Given the description of an element on the screen output the (x, y) to click on. 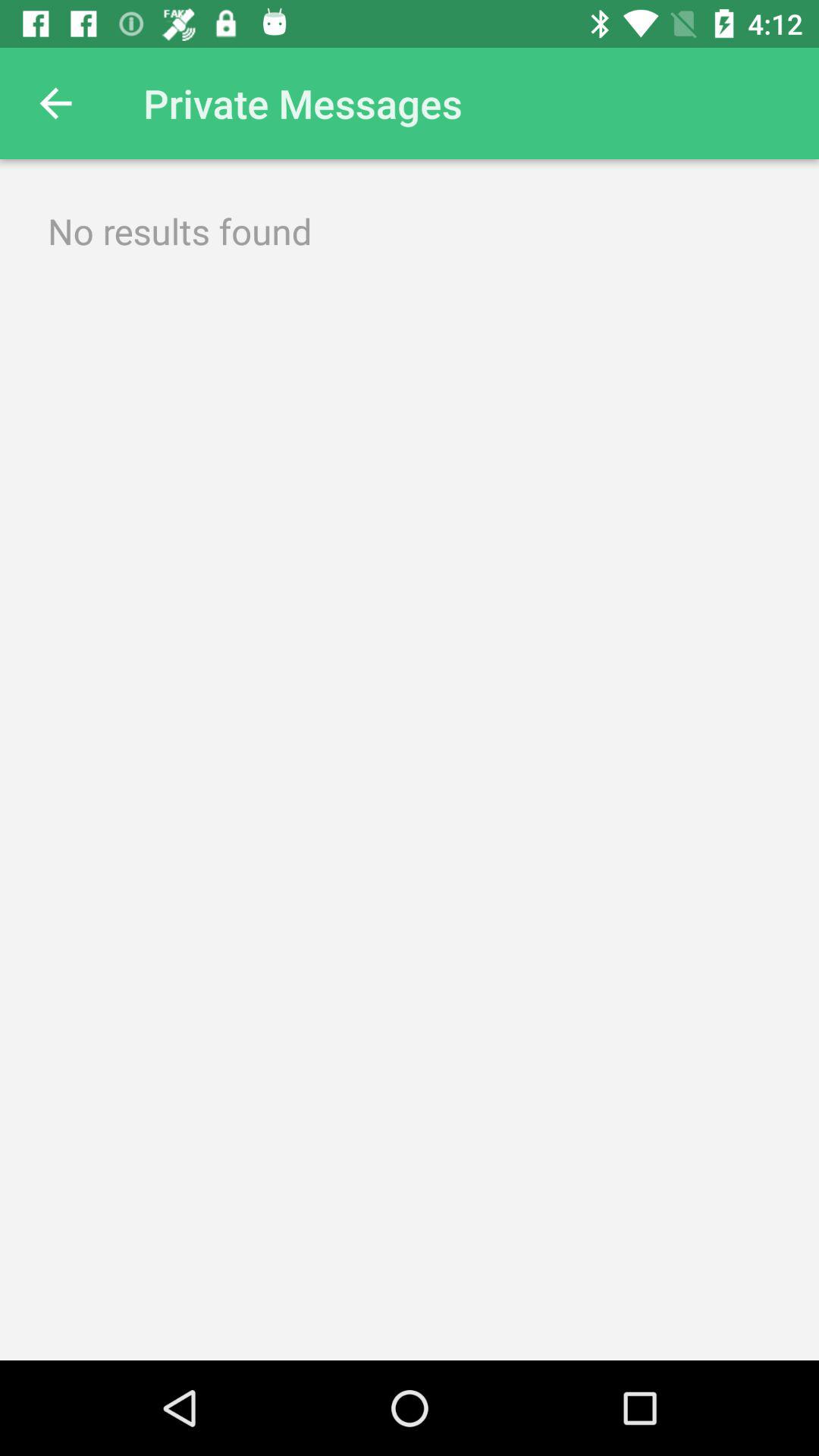
turn on the icon to the left of the private messages (55, 103)
